Given the description of an element on the screen output the (x, y) to click on. 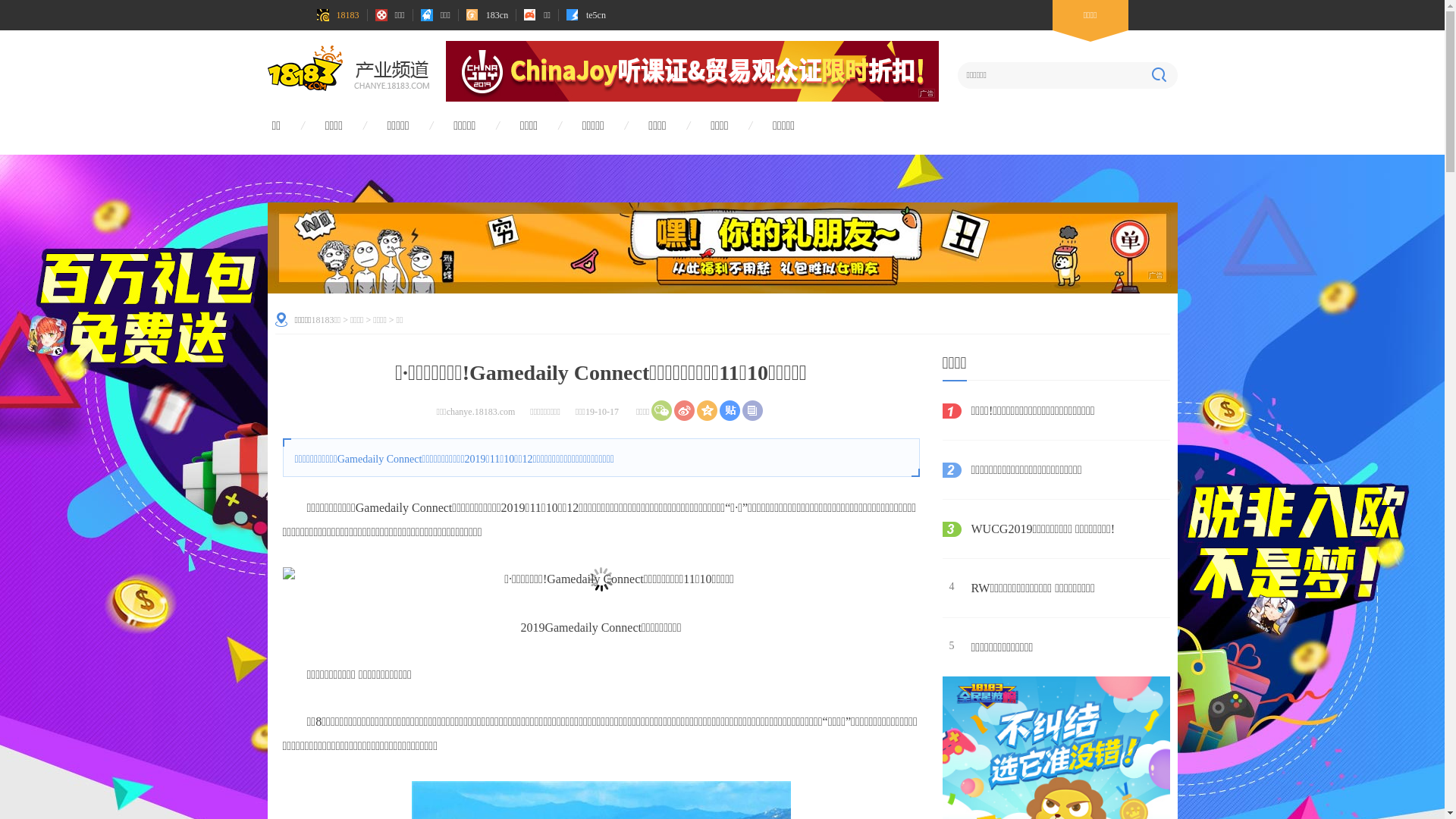
te5cn Element type: text (585, 14)
183cn Element type: text (487, 14)
18183 Element type: text (337, 14)
